Given the description of an element on the screen output the (x, y) to click on. 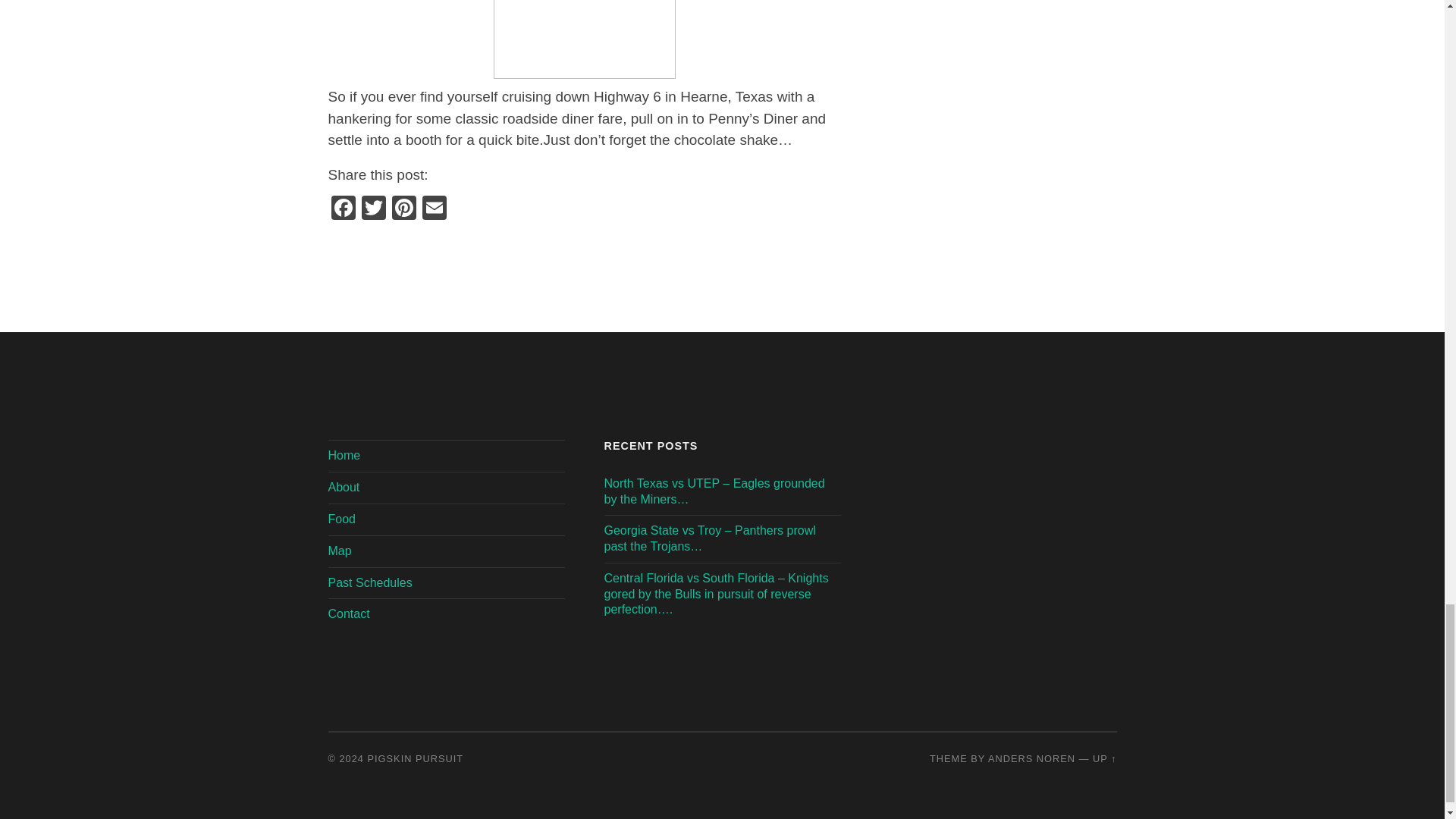
Facebook (342, 209)
Pinterest (403, 209)
To the top (1104, 758)
Email (433, 209)
Twitter (373, 209)
